Given the description of an element on the screen output the (x, y) to click on. 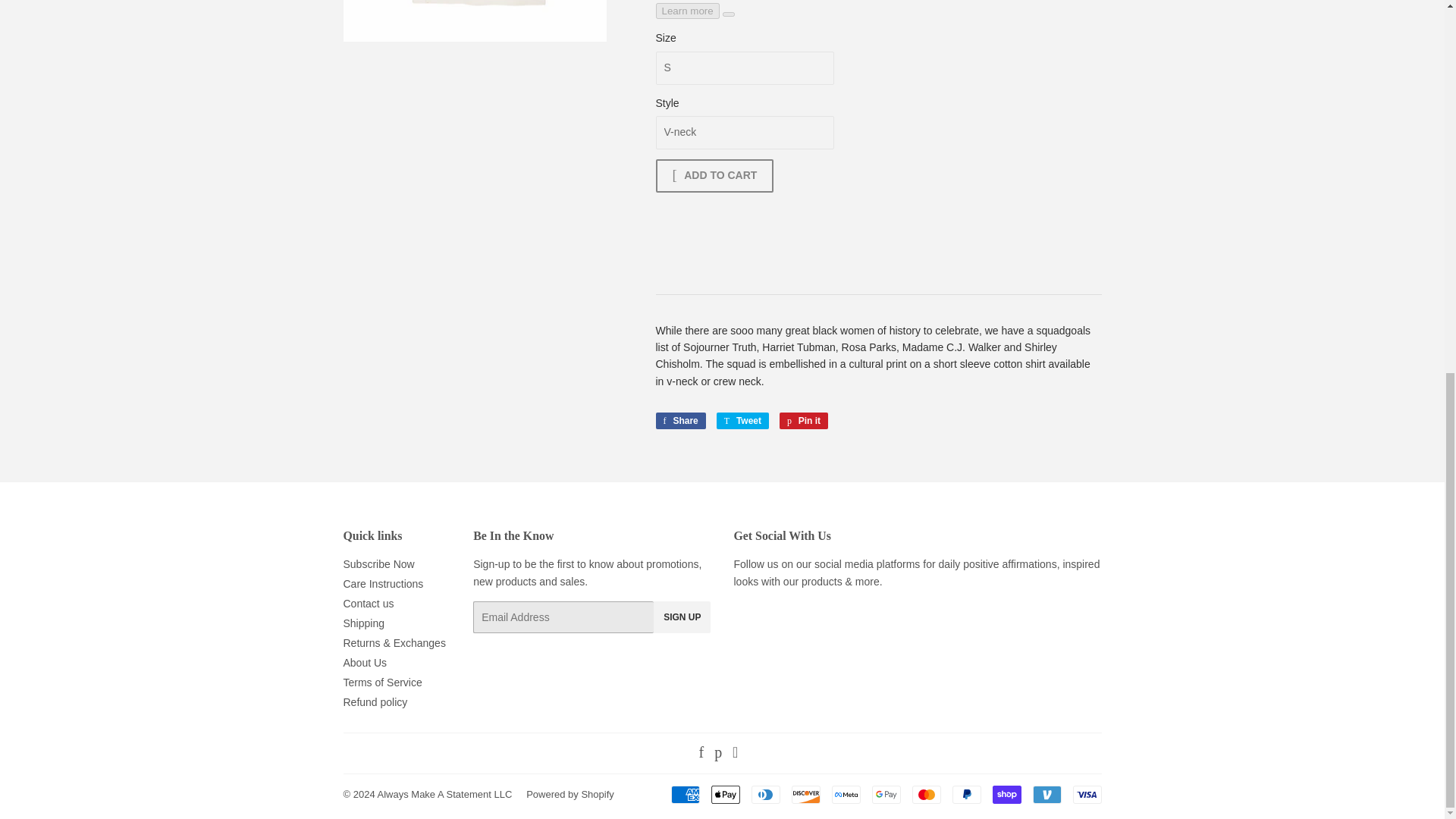
Venmo (1046, 794)
Meta Pay (845, 794)
Pin on Pinterest (803, 420)
ADD TO CART (714, 175)
Share on Facebook (679, 420)
Tweet on Twitter (742, 420)
Visa (1085, 794)
Shop Pay (1005, 794)
Diners Club (764, 794)
Discover (806, 794)
American Express (683, 794)
Google Pay (886, 794)
Apple Pay (725, 794)
Mastercard (925, 794)
PayPal (966, 794)
